Given the description of an element on the screen output the (x, y) to click on. 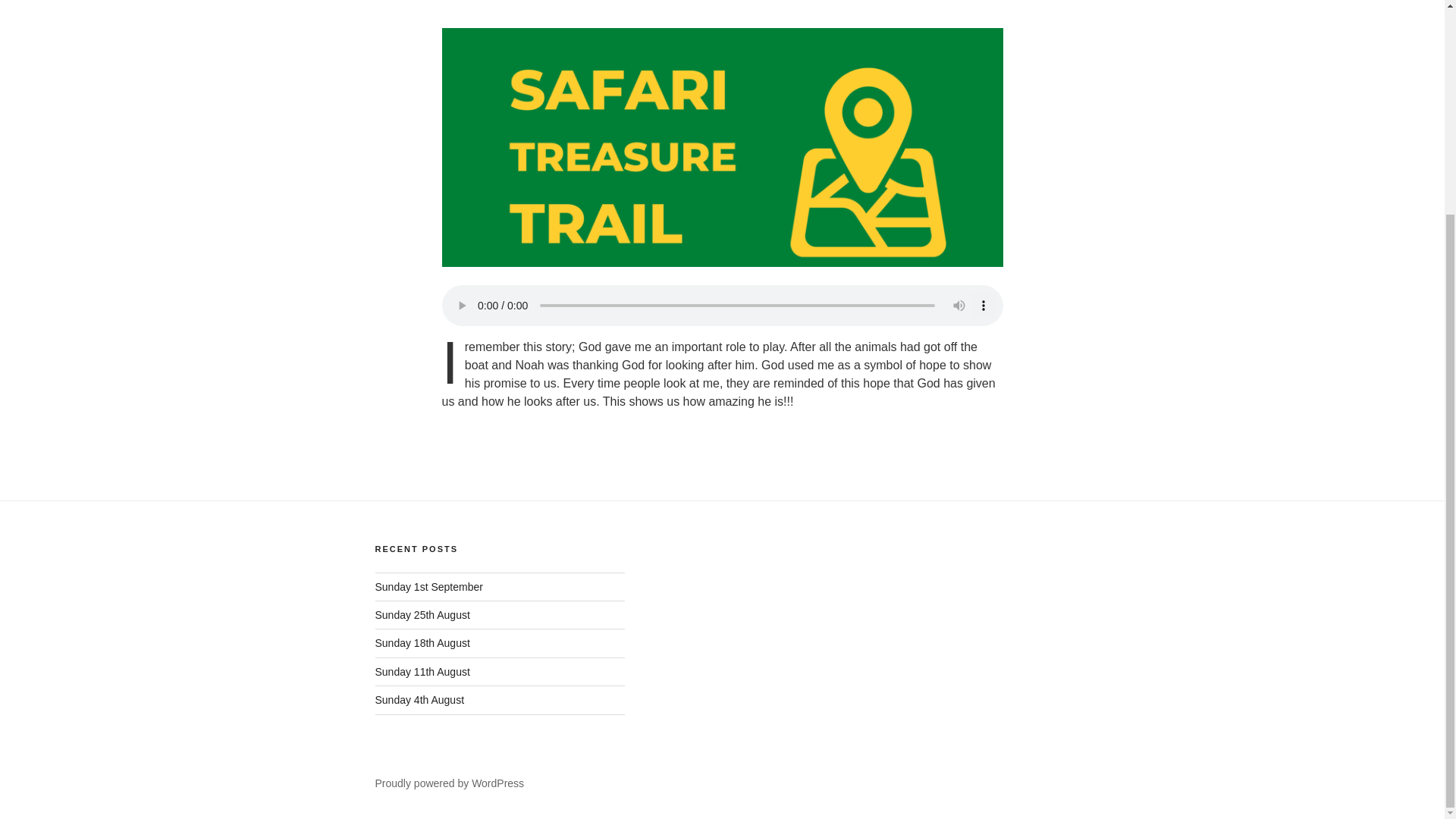
Sunday 18th August (421, 643)
Sunday 11th August (421, 671)
Sunday 25th August (421, 614)
Proudly powered by WordPress (449, 783)
Sunday 4th August (419, 699)
Sunday 1st September (427, 586)
